Given the description of an element on the screen output the (x, y) to click on. 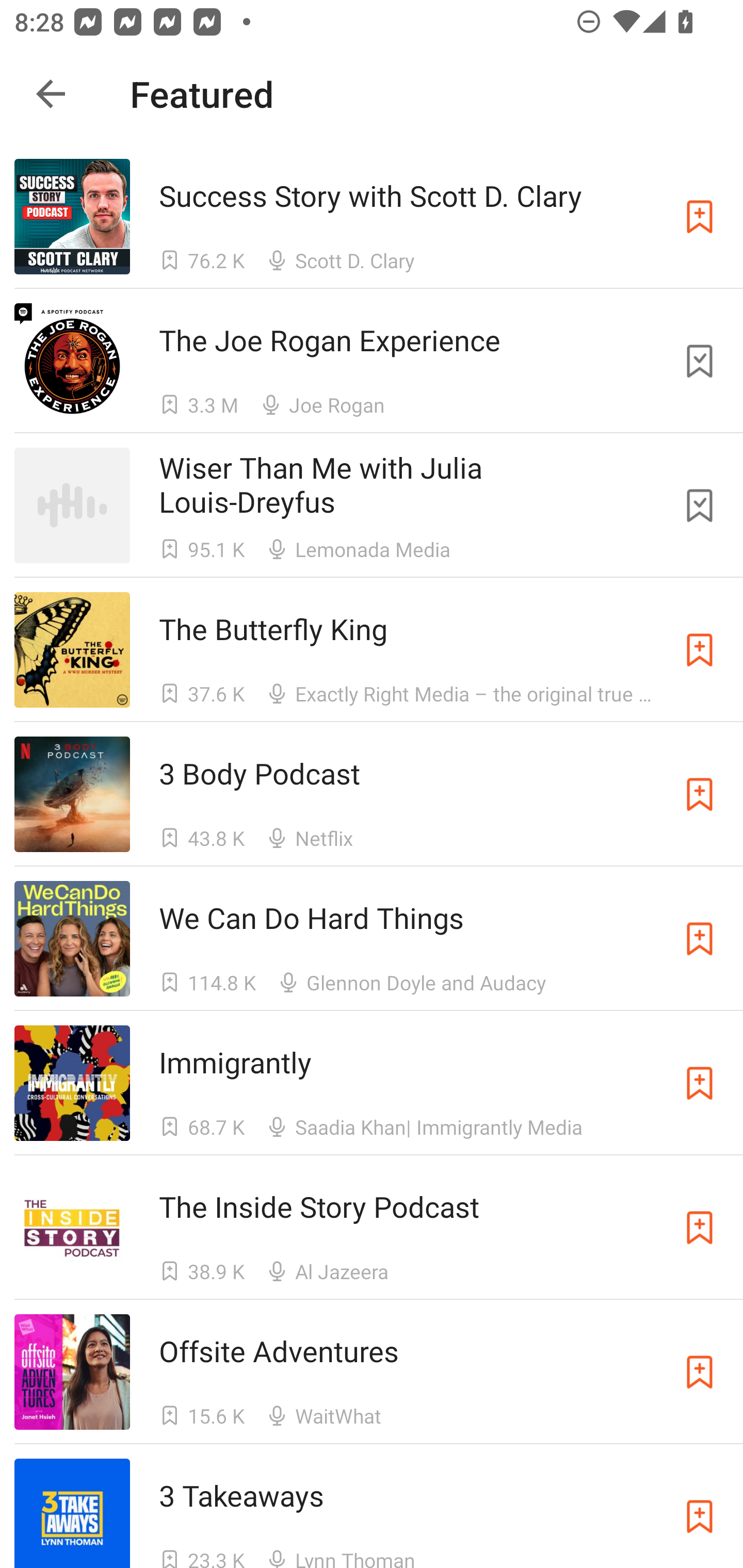
Navigate up (50, 93)
Subscribe (699, 216)
Unsubscribe (699, 360)
Unsubscribe (699, 505)
Subscribe (699, 649)
Subscribe (699, 793)
Subscribe (699, 939)
Subscribe (699, 1083)
Subscribe (699, 1227)
Subscribe (699, 1371)
Subscribe (699, 1513)
